Given the description of an element on the screen output the (x, y) to click on. 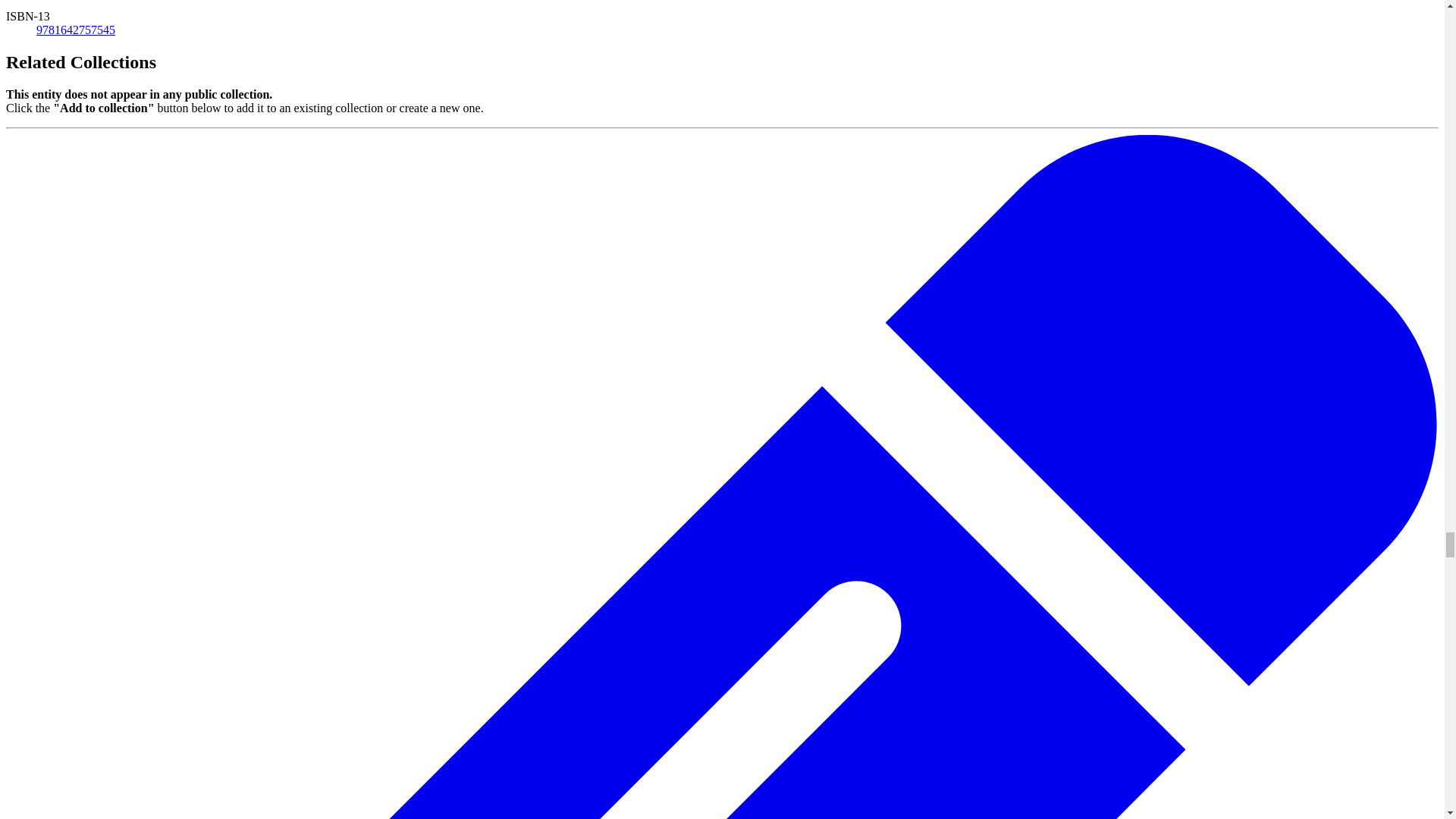
9781642757545 (75, 29)
